Given the description of an element on the screen output the (x, y) to click on. 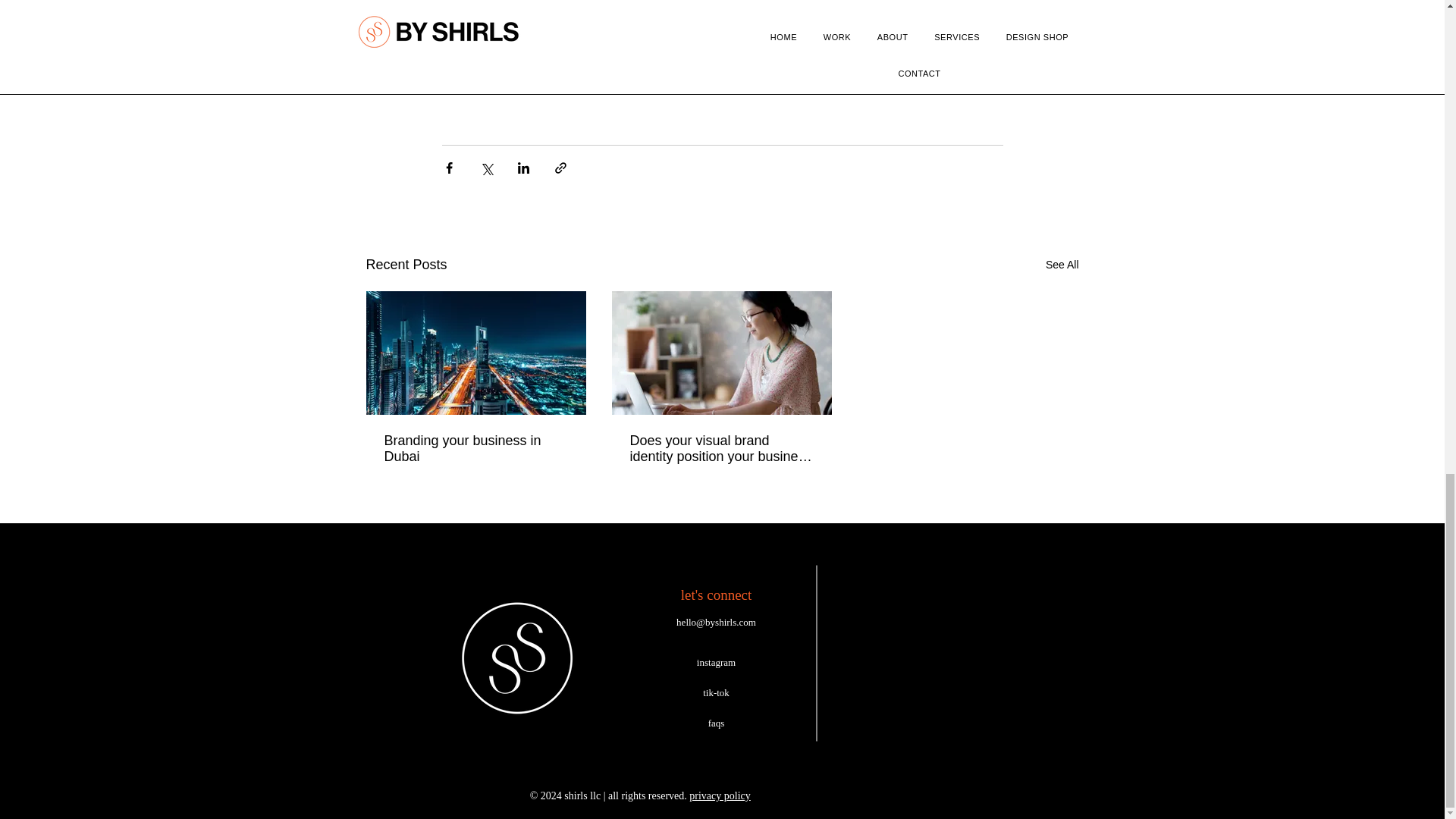
tik-tok (715, 693)
privacy policy (718, 795)
Branding your business in Dubai (475, 449)
instagram (715, 662)
faqs (715, 723)
See All (1061, 264)
